Given the description of an element on the screen output the (x, y) to click on. 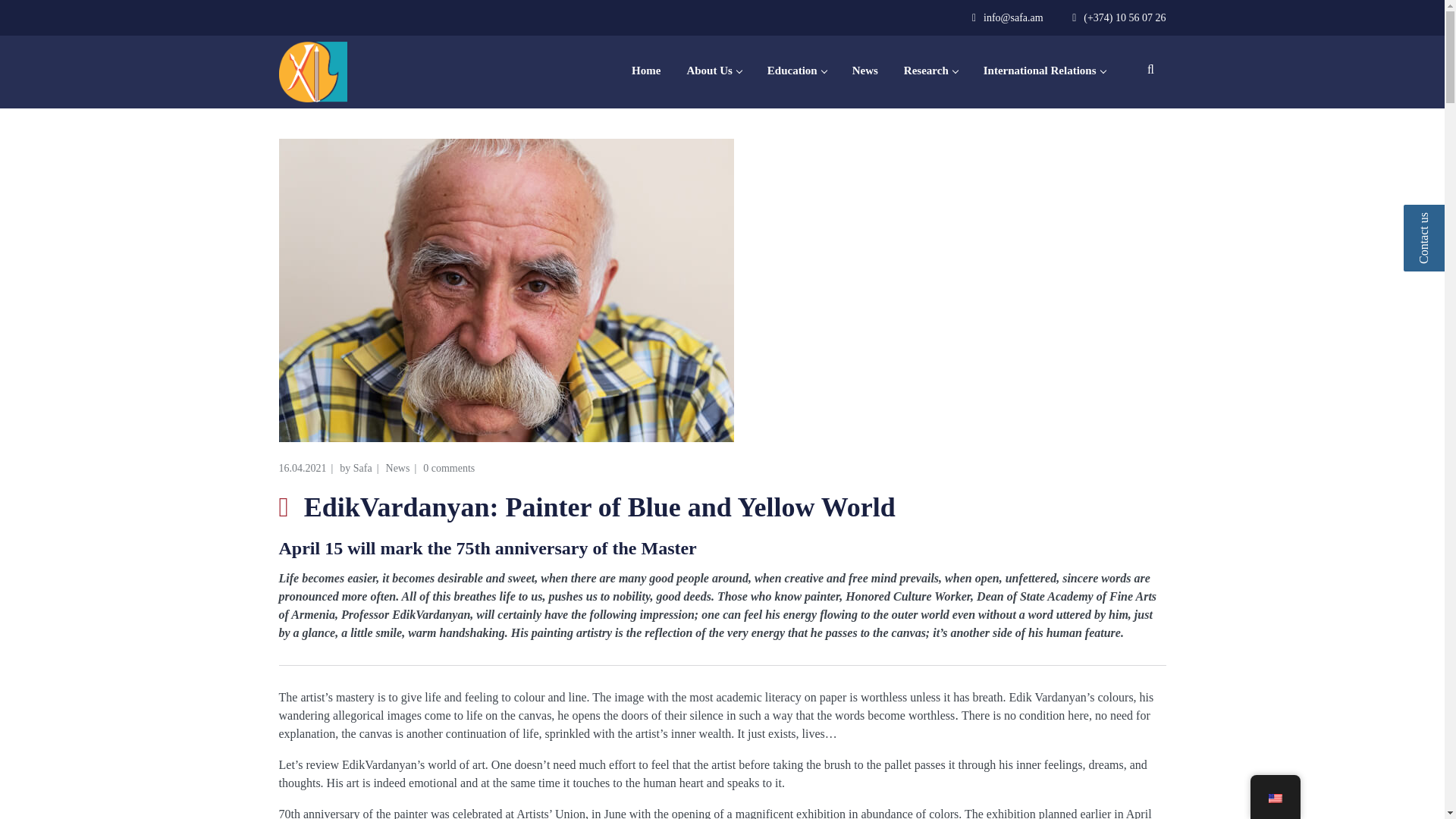
International Relations (1044, 72)
Search (1147, 131)
English (1274, 798)
Education (796, 72)
Research (930, 72)
About Us (713, 72)
